Given the description of an element on the screen output the (x, y) to click on. 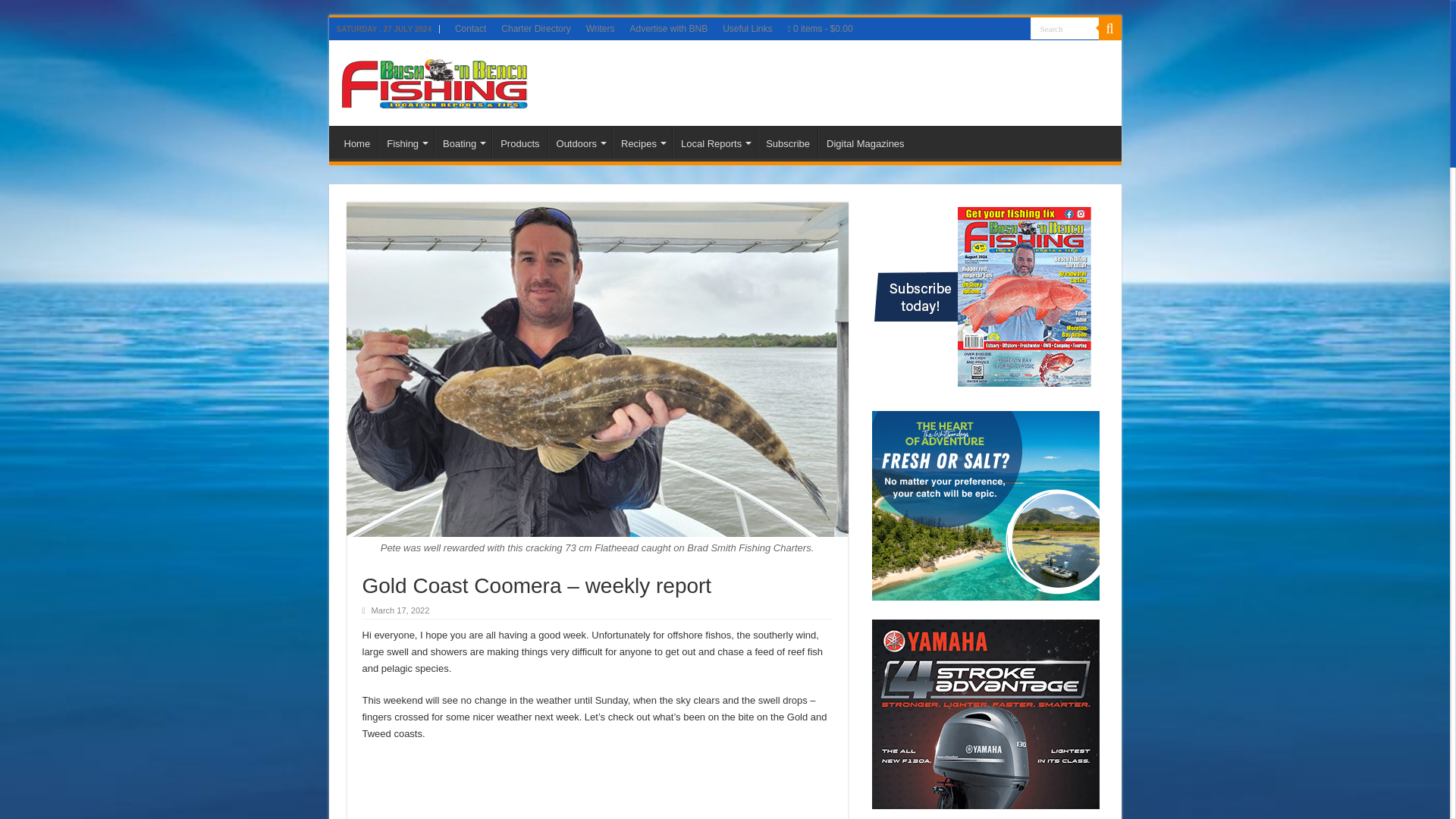
Search (1063, 28)
Search (1063, 28)
Start shopping (820, 28)
Search (1063, 28)
